Given the description of an element on the screen output the (x, y) to click on. 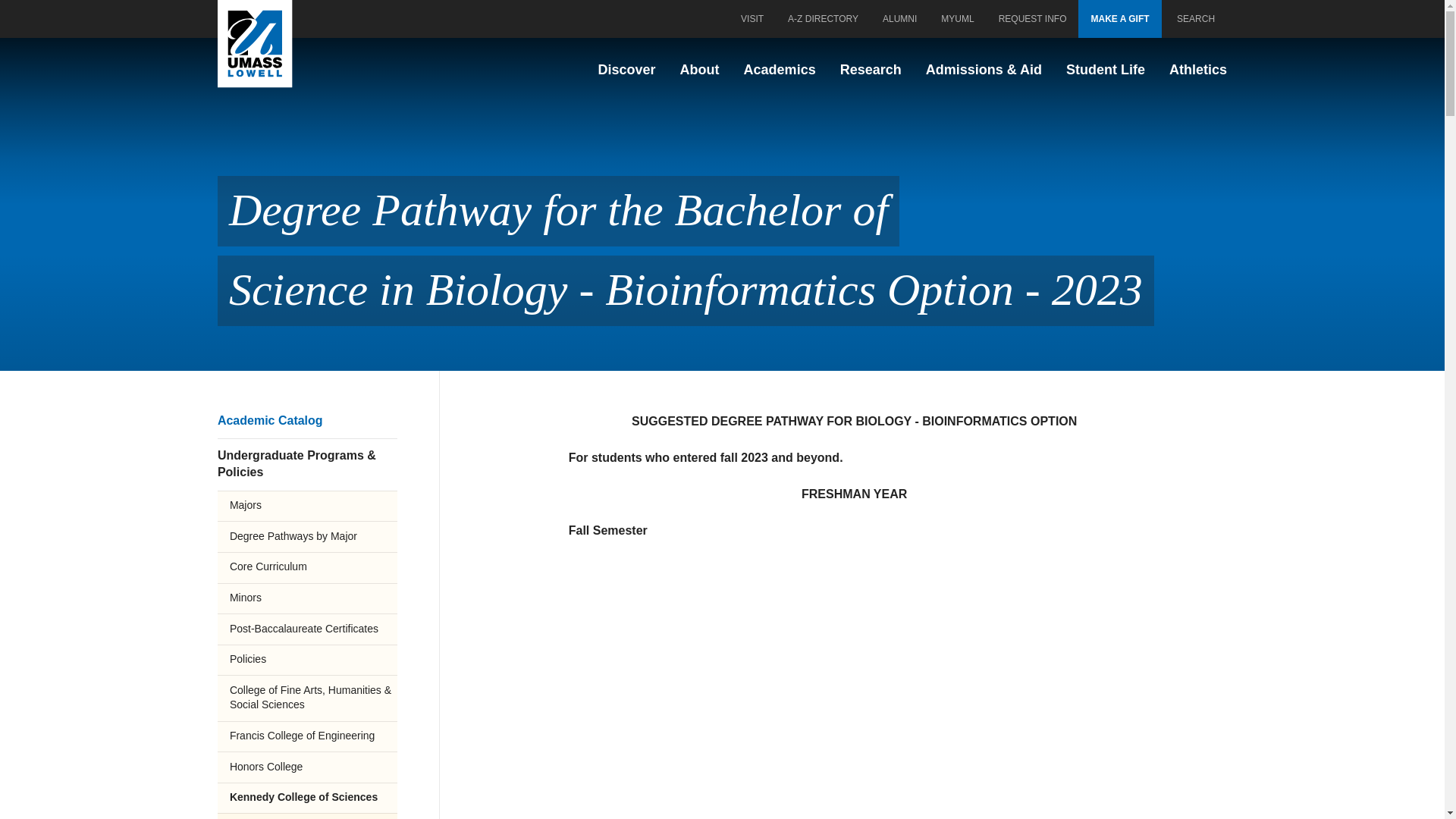
About (699, 69)
SEARCH (1194, 18)
Student Life (1104, 69)
Minors (306, 598)
Visit (752, 18)
Academics (779, 69)
Student Life (1104, 69)
Make A Gift (1119, 18)
A-Z Directory (823, 18)
Academics (779, 69)
Policies (306, 816)
REQUEST INFO (1032, 18)
Post-Baccalaureate Certificates (306, 628)
Academic Catalog (306, 420)
ALUMNI (899, 18)
